Given the description of an element on the screen output the (x, y) to click on. 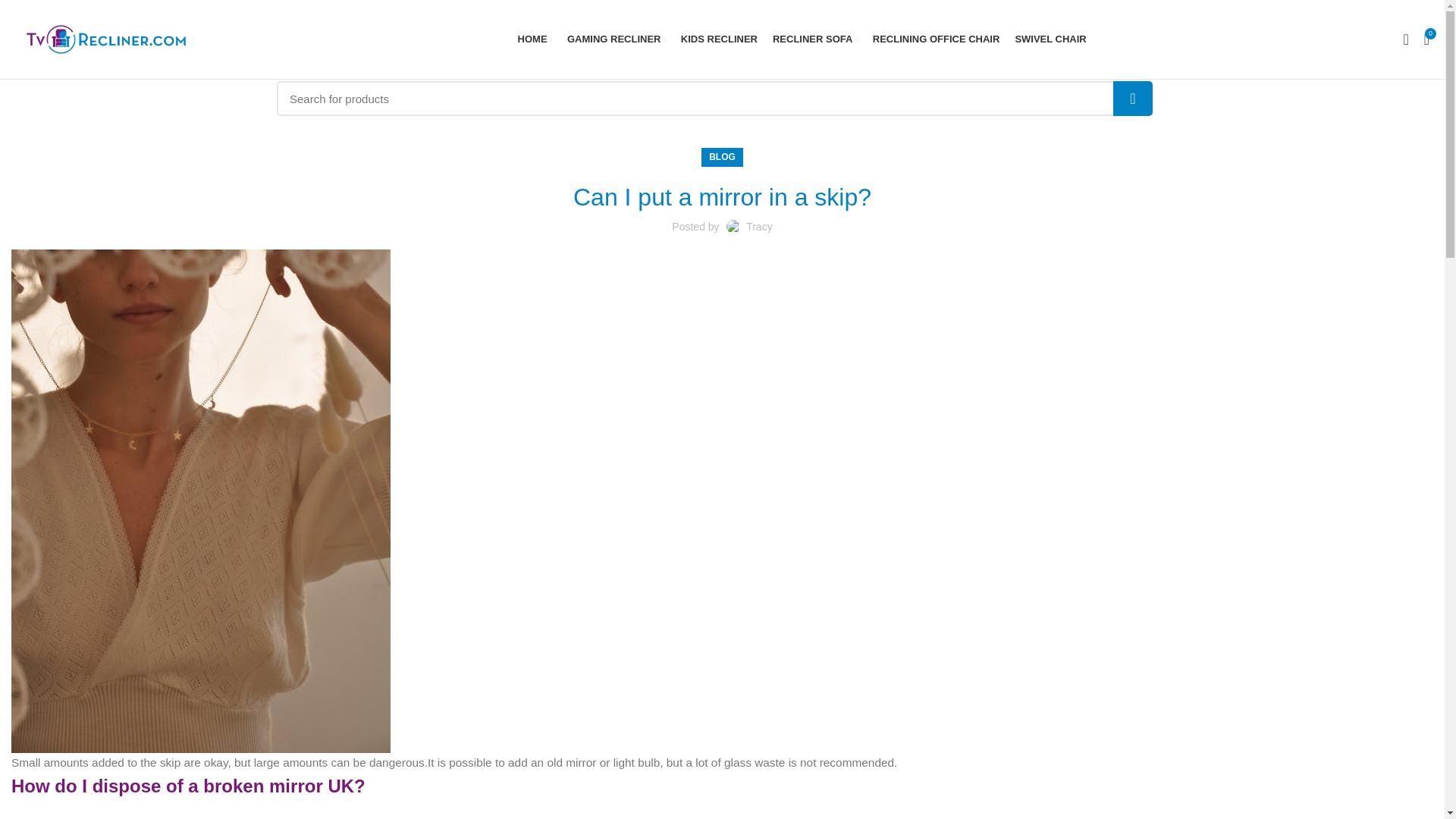
Tracy (758, 226)
KIDS RECLINER (718, 39)
GAMING RECLINER (615, 39)
SEARCH (1133, 98)
BLOG (722, 157)
RECLINING OFFICE CHAIR (935, 39)
SWIVEL CHAIR (1050, 39)
HOME (535, 39)
Search for products (714, 98)
RECLINER SOFA (814, 39)
